Given the description of an element on the screen output the (x, y) to click on. 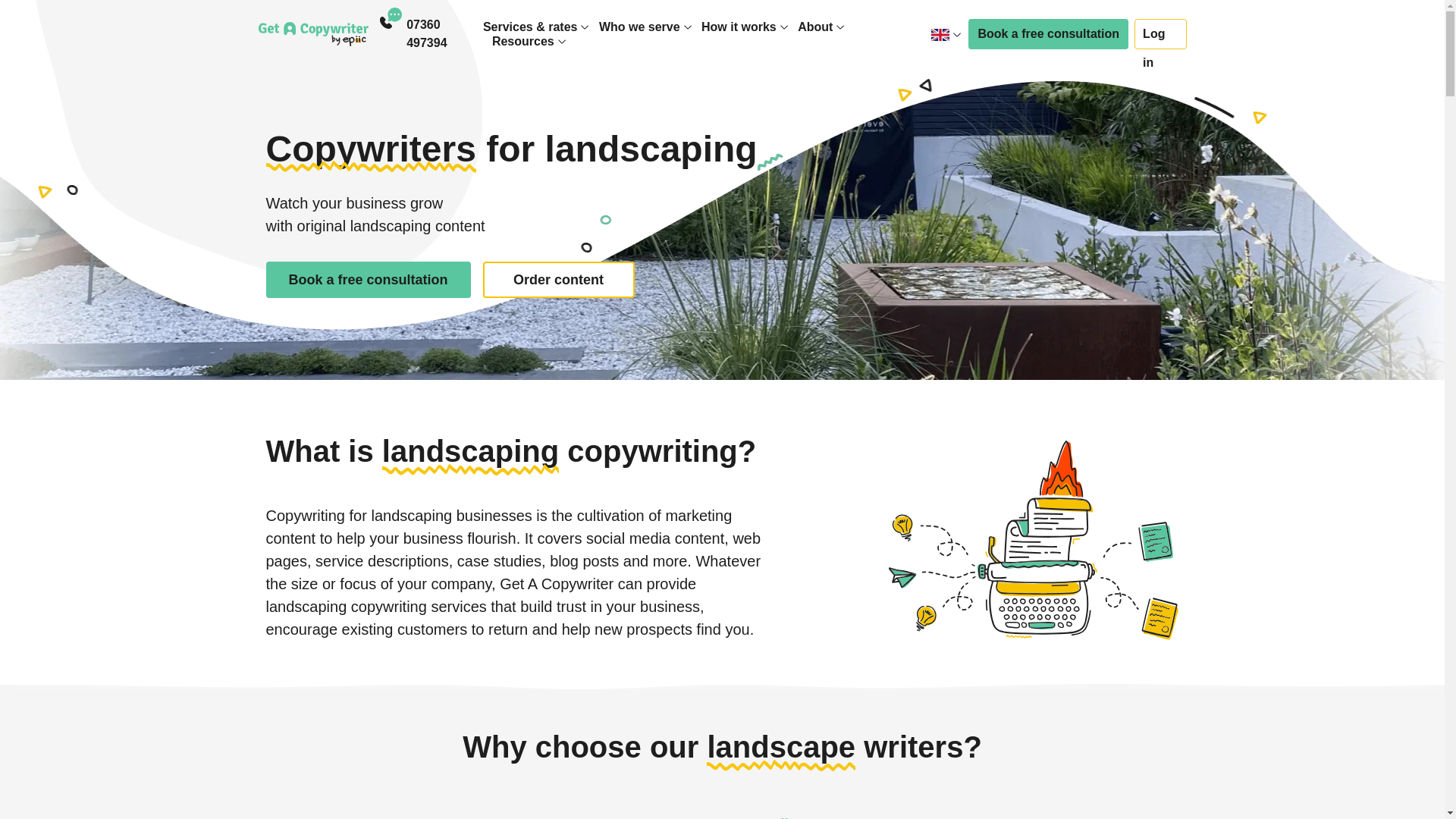
phone number (444, 33)
How it works (738, 26)
Get a copywriter (312, 33)
About (814, 26)
Who we serve (638, 26)
Resources (523, 41)
07360 497394 (444, 33)
